Given the description of an element on the screen output the (x, y) to click on. 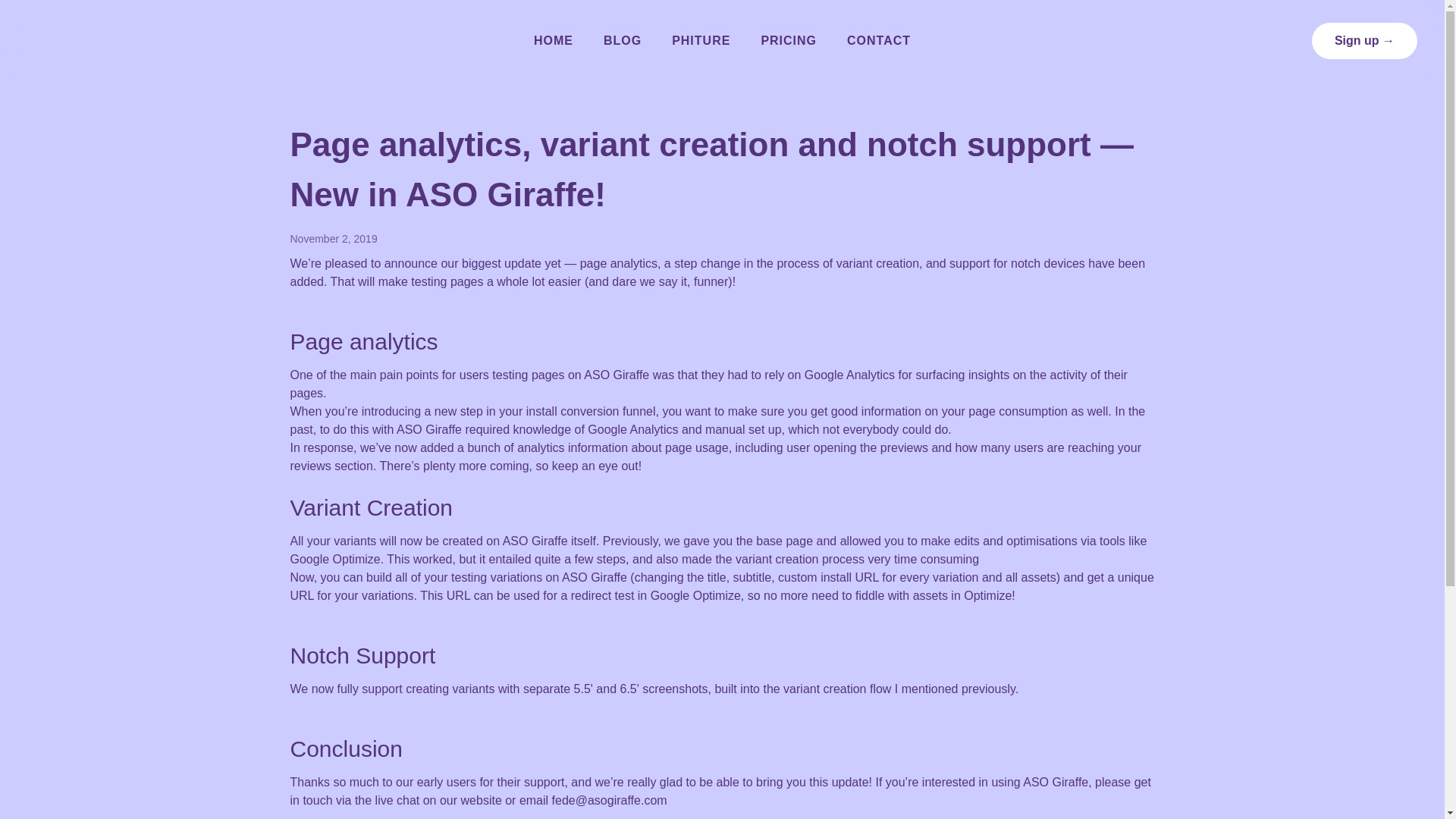
BLOG (622, 40)
PHITURE (700, 40)
HOME (553, 40)
PRICING (788, 40)
CONTACT (878, 40)
